Given the description of an element on the screen output the (x, y) to click on. 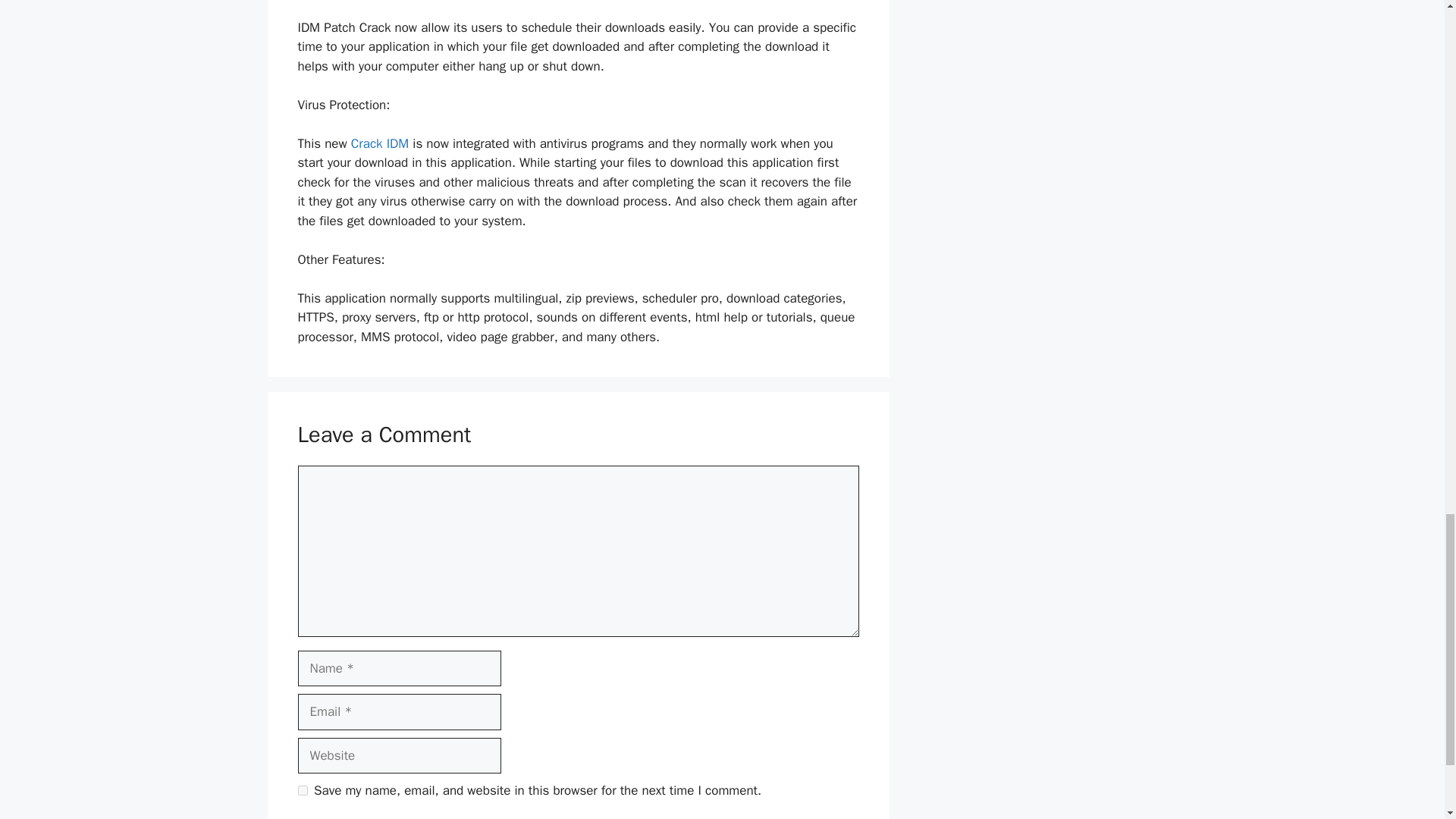
Crack IDM (381, 143)
yes (302, 790)
Crack IDM  (381, 143)
